Given the description of an element on the screen output the (x, y) to click on. 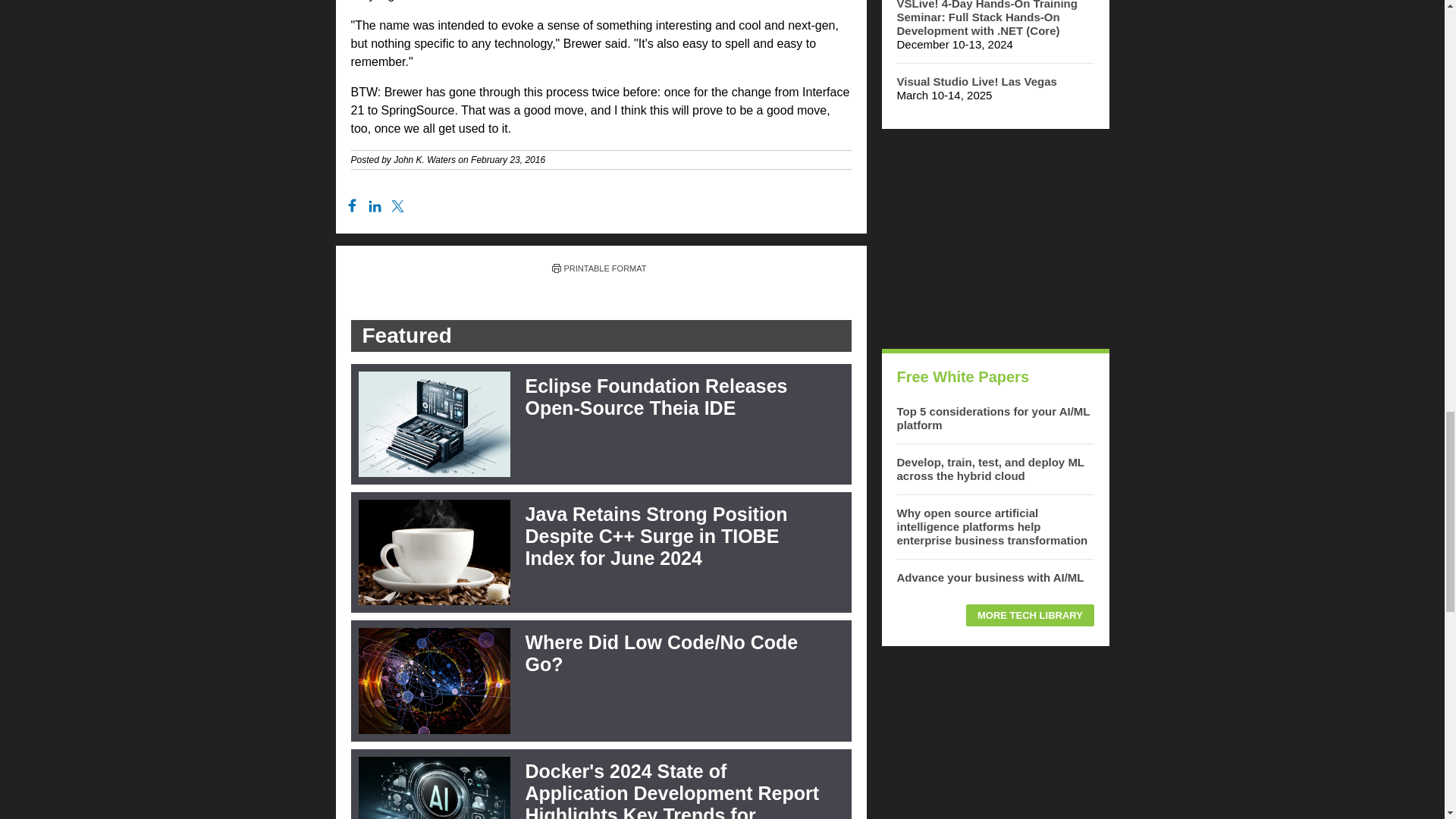
PRINTABLE FORMAT (598, 267)
3rd party ad content (994, 739)
Eclipse Foundation Releases Open-Source Theia IDE (655, 396)
3rd party ad content (994, 238)
